Given the description of an element on the screen output the (x, y) to click on. 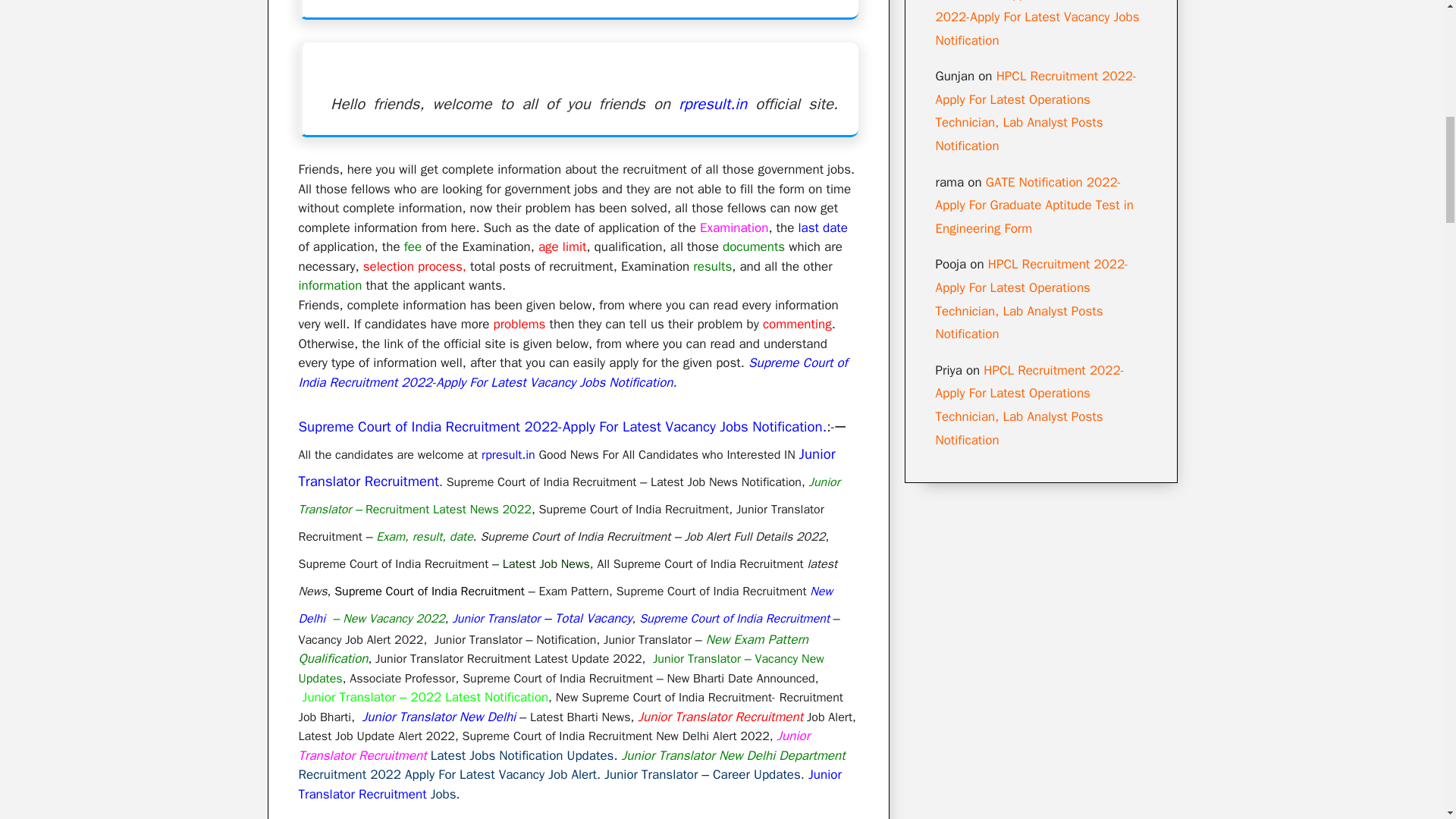
rpresult.in (712, 103)
